Given the description of an element on the screen output the (x, y) to click on. 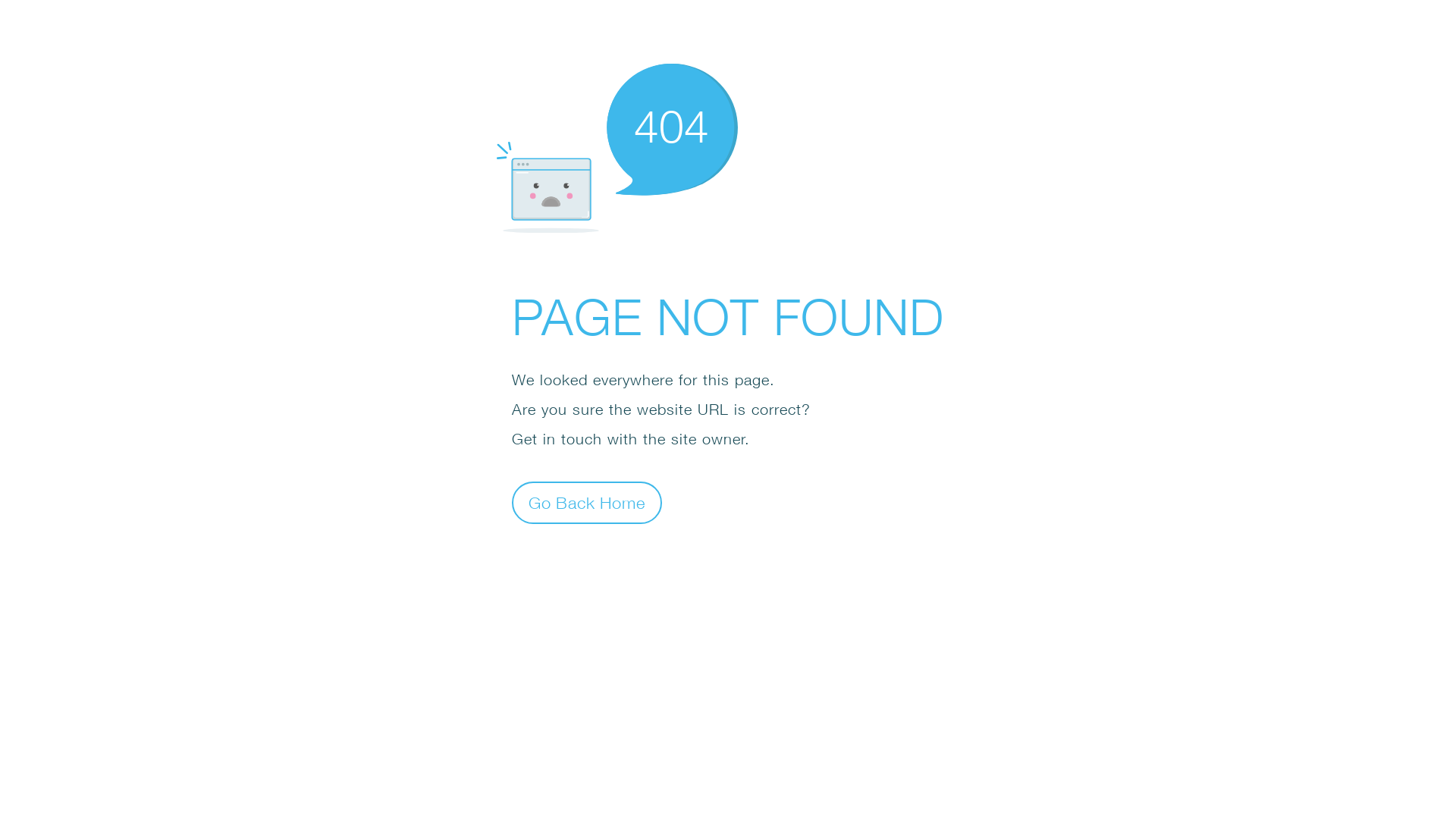
Go Back Home Element type: text (586, 502)
